Given the description of an element on the screen output the (x, y) to click on. 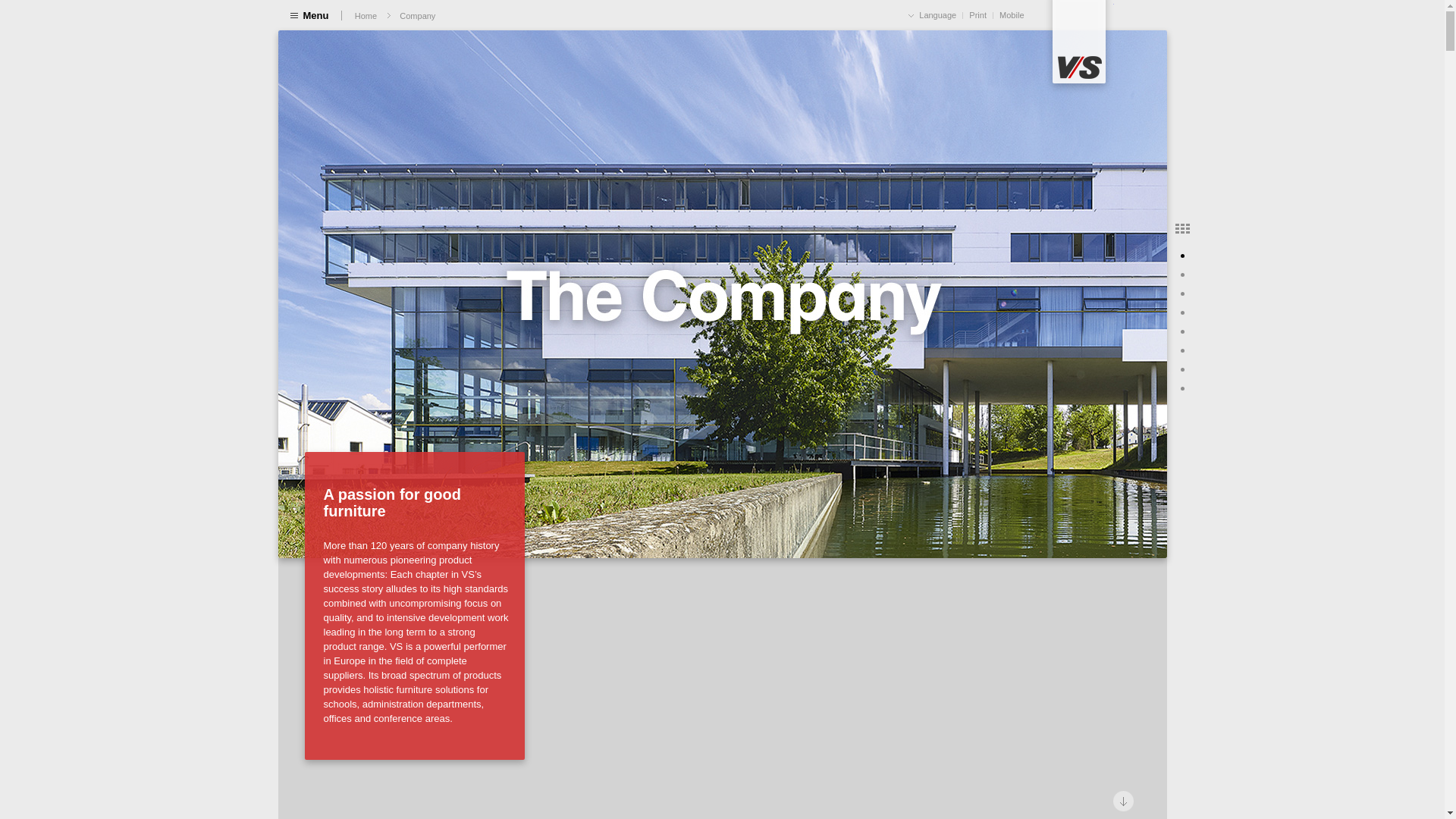
Home (366, 14)
Print (978, 13)
Menu (309, 13)
Mobile (1010, 13)
Company (416, 14)
